Given the description of an element on the screen output the (x, y) to click on. 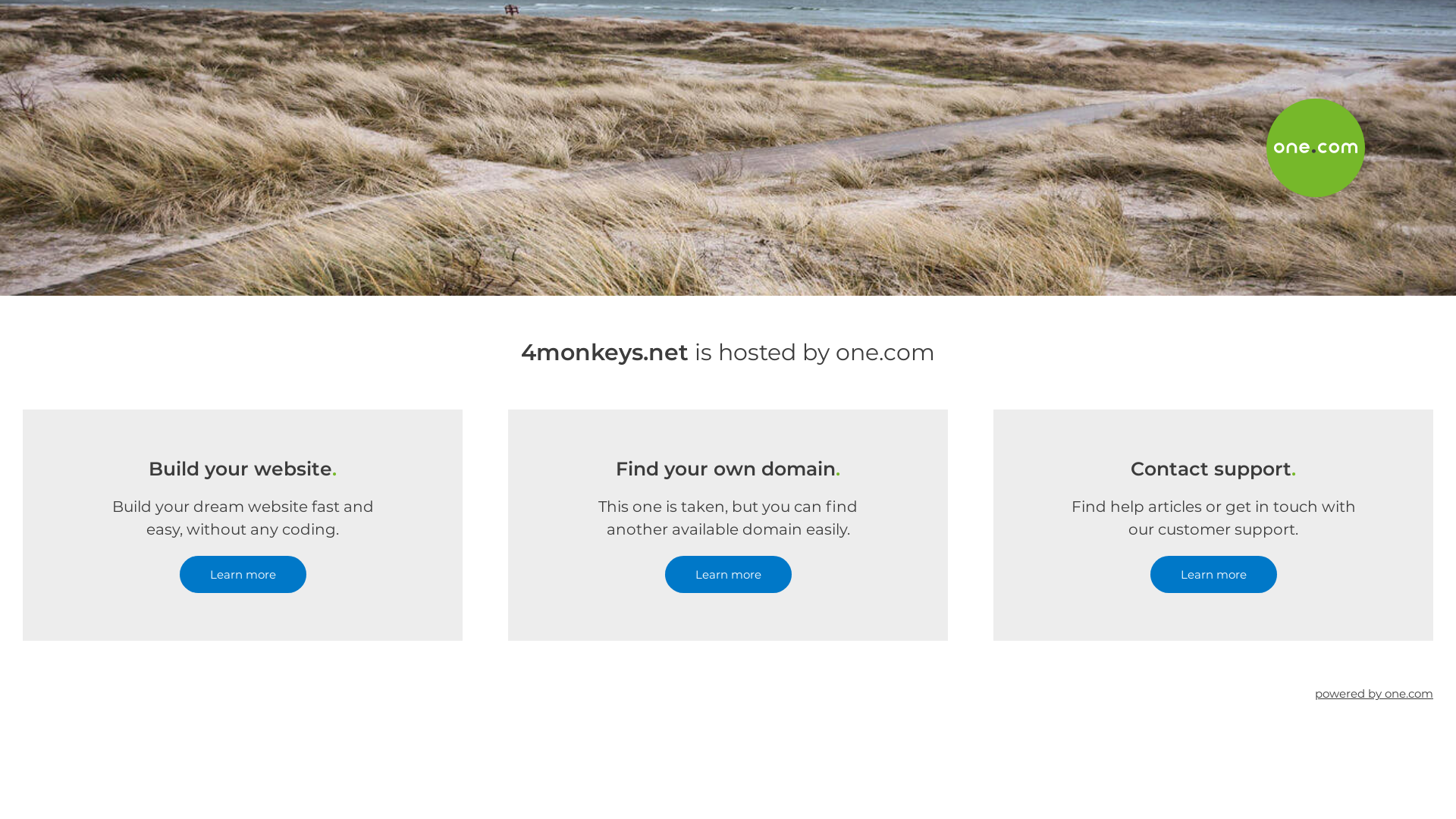
powered by one.com Element type: text (1373, 693)
Learn more Element type: text (1212, 574)
Learn more Element type: text (727, 574)
Learn more Element type: text (241, 574)
